Given the description of an element on the screen output the (x, y) to click on. 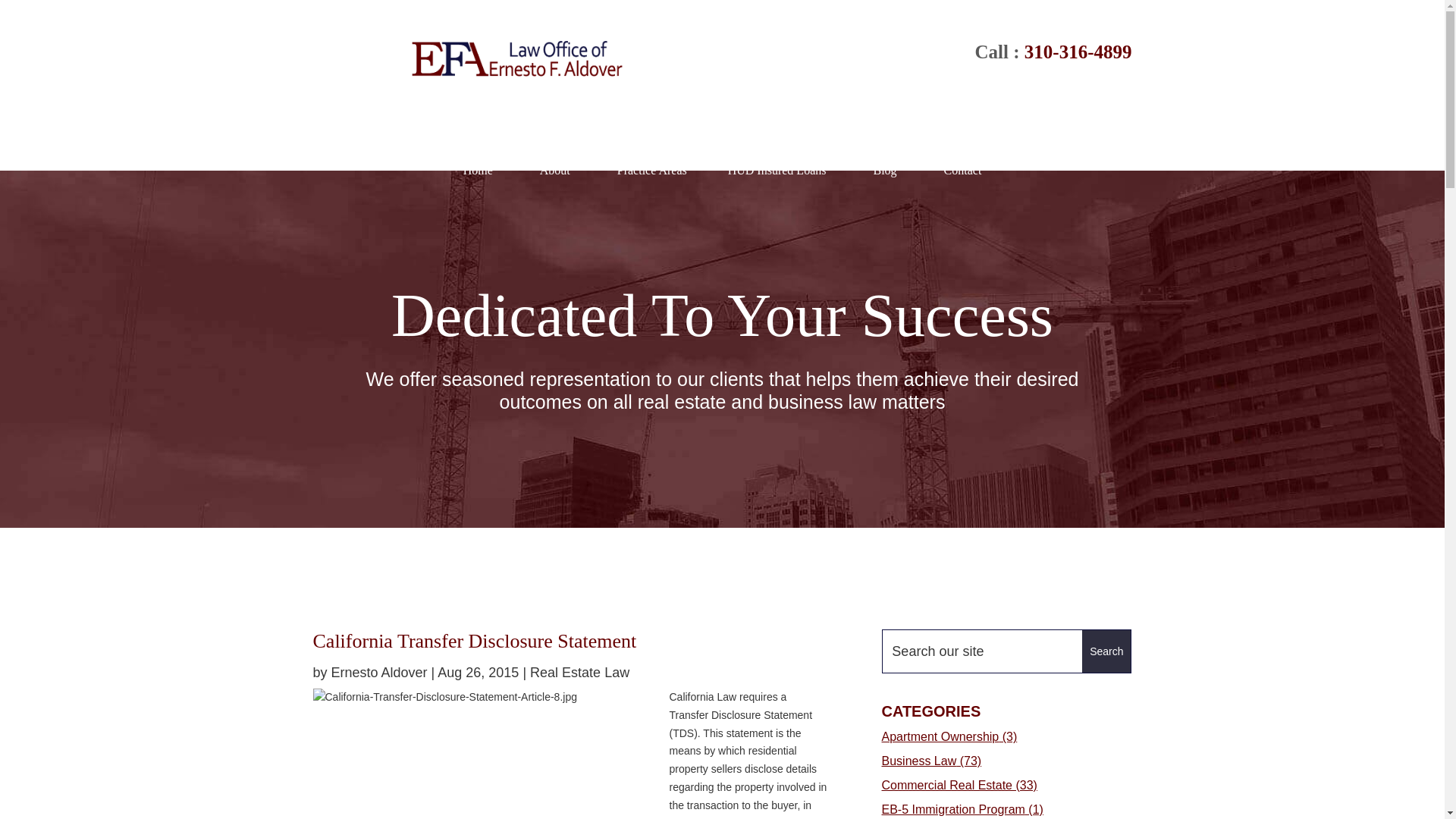
Search (1106, 650)
HUD Insured Loans (776, 170)
Posts by Ernesto Aldover (379, 672)
Contact (963, 170)
About (554, 170)
Real Estate Law (578, 672)
310-316-4899 (1078, 51)
Search (1106, 650)
Law-Office-of-Ernesto-F-Aldover (516, 58)
Search (1106, 650)
Blog (884, 170)
Practice Areas (648, 170)
Home (477, 170)
Ernesto Aldover (379, 672)
